Given the description of an element on the screen output the (x, y) to click on. 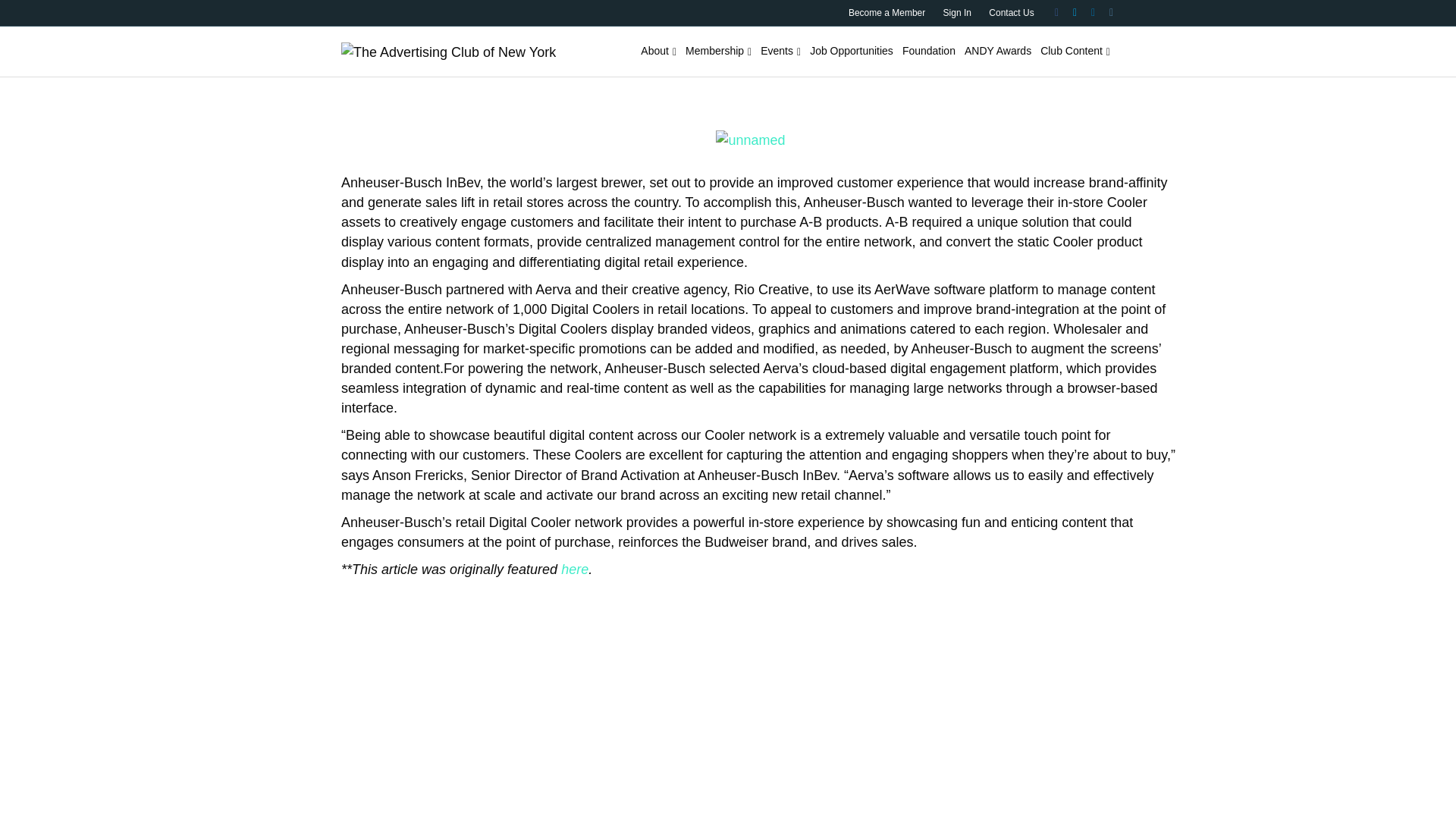
Linkedin (1085, 11)
Sign In (957, 13)
Instagram (1103, 11)
Become a Member (887, 13)
Twitter (1067, 11)
About (658, 51)
Contact Us (1011, 13)
Facebook (1049, 11)
